Given the description of an element on the screen output the (x, y) to click on. 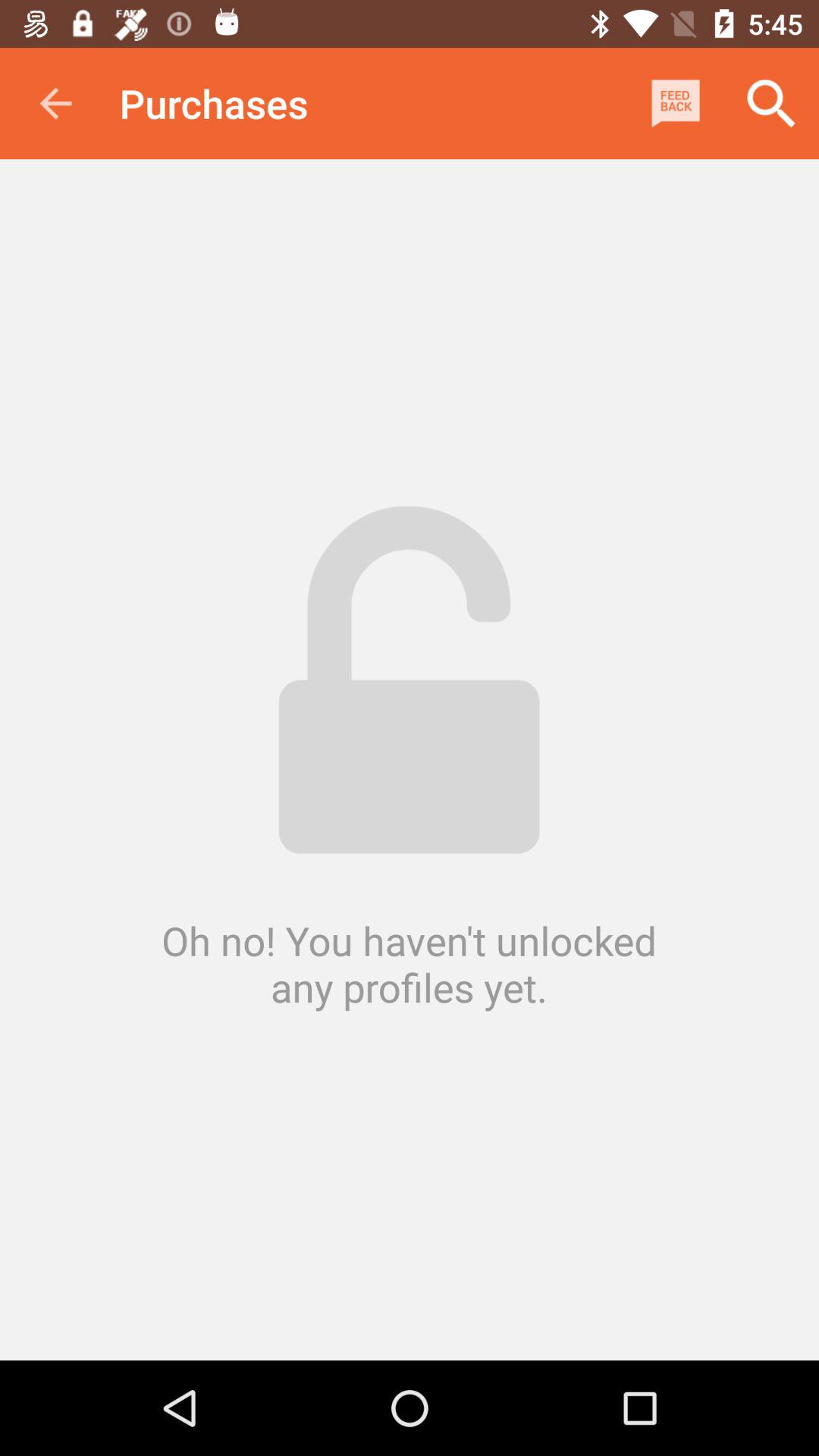
press icon to the left of the purchases icon (55, 103)
